Given the description of an element on the screen output the (x, y) to click on. 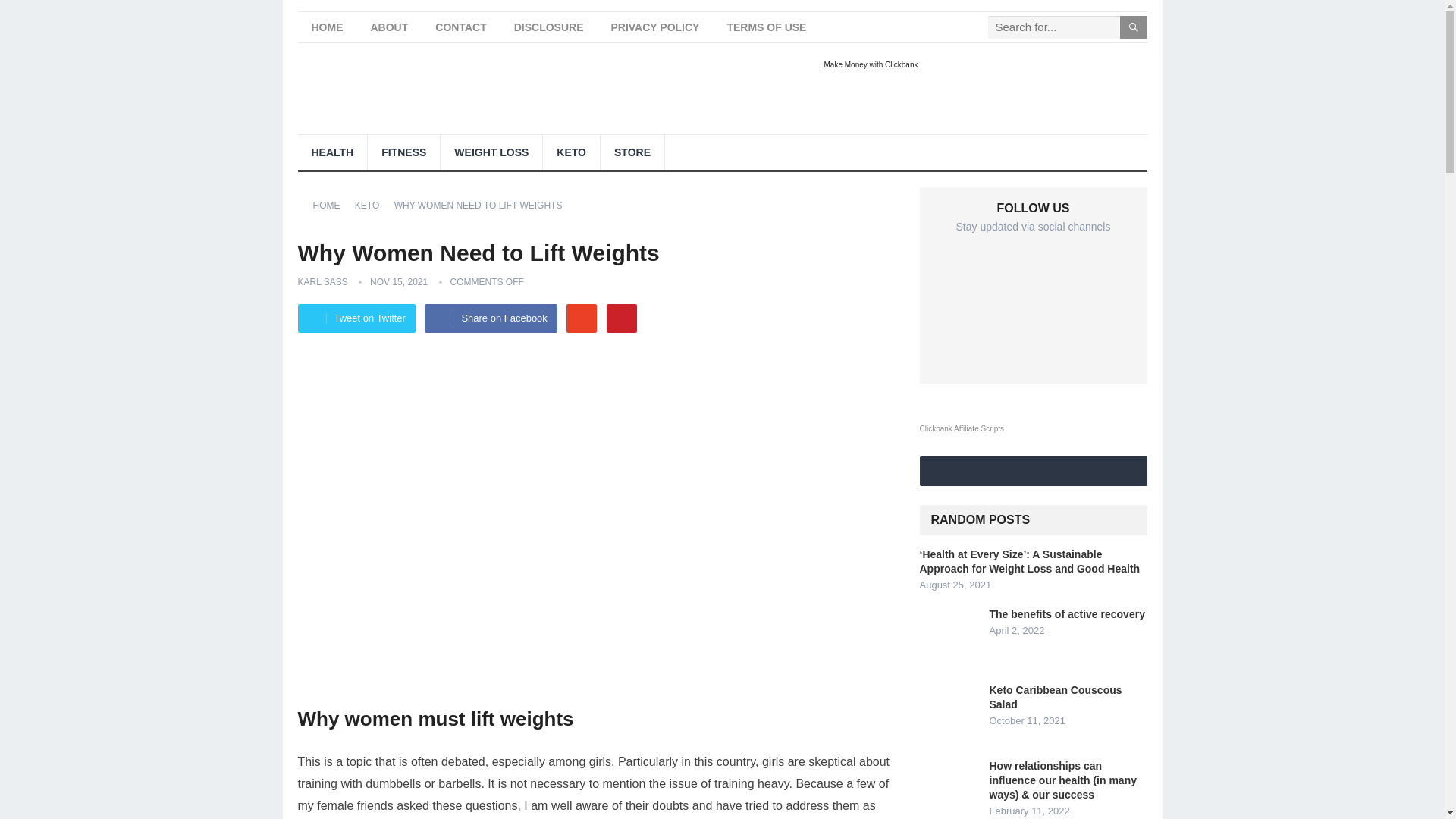
HOME (326, 27)
Pinterest (622, 317)
Make Money with Clickbank (871, 62)
Share on Facebook (490, 317)
View all posts in Keto (372, 204)
HEALTH (331, 152)
Posts by Karl Sass (322, 281)
KETO (372, 204)
PRIVACY POLICY (654, 27)
DISCLOSURE (548, 27)
